Given the description of an element on the screen output the (x, y) to click on. 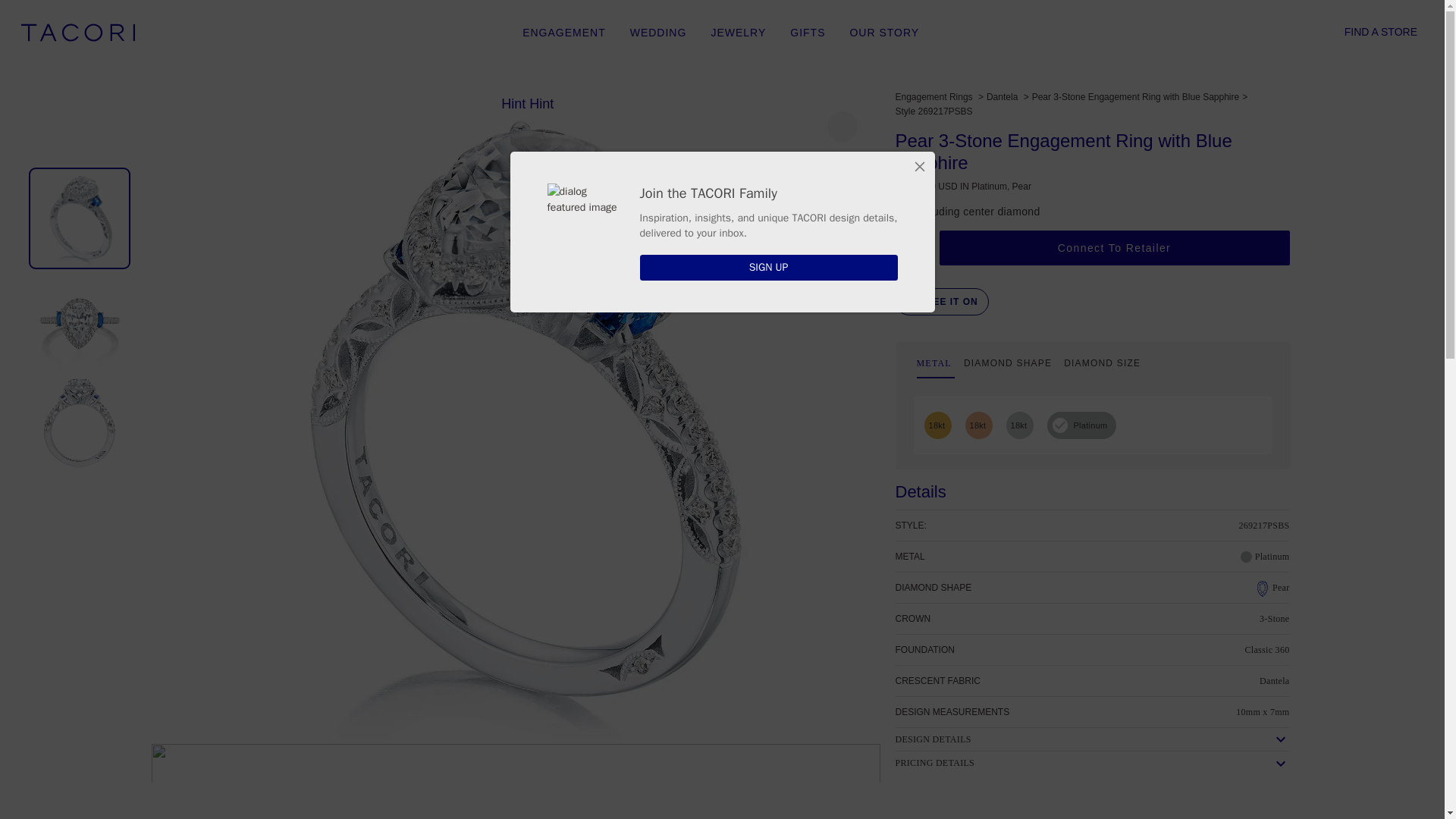
18kt (936, 425)
Platinum (1090, 425)
search (1139, 32)
18kt (1018, 425)
Add to wish list (909, 247)
TACORI Enterprises (1092, 366)
Hint Hint (78, 32)
